Given the description of an element on the screen output the (x, y) to click on. 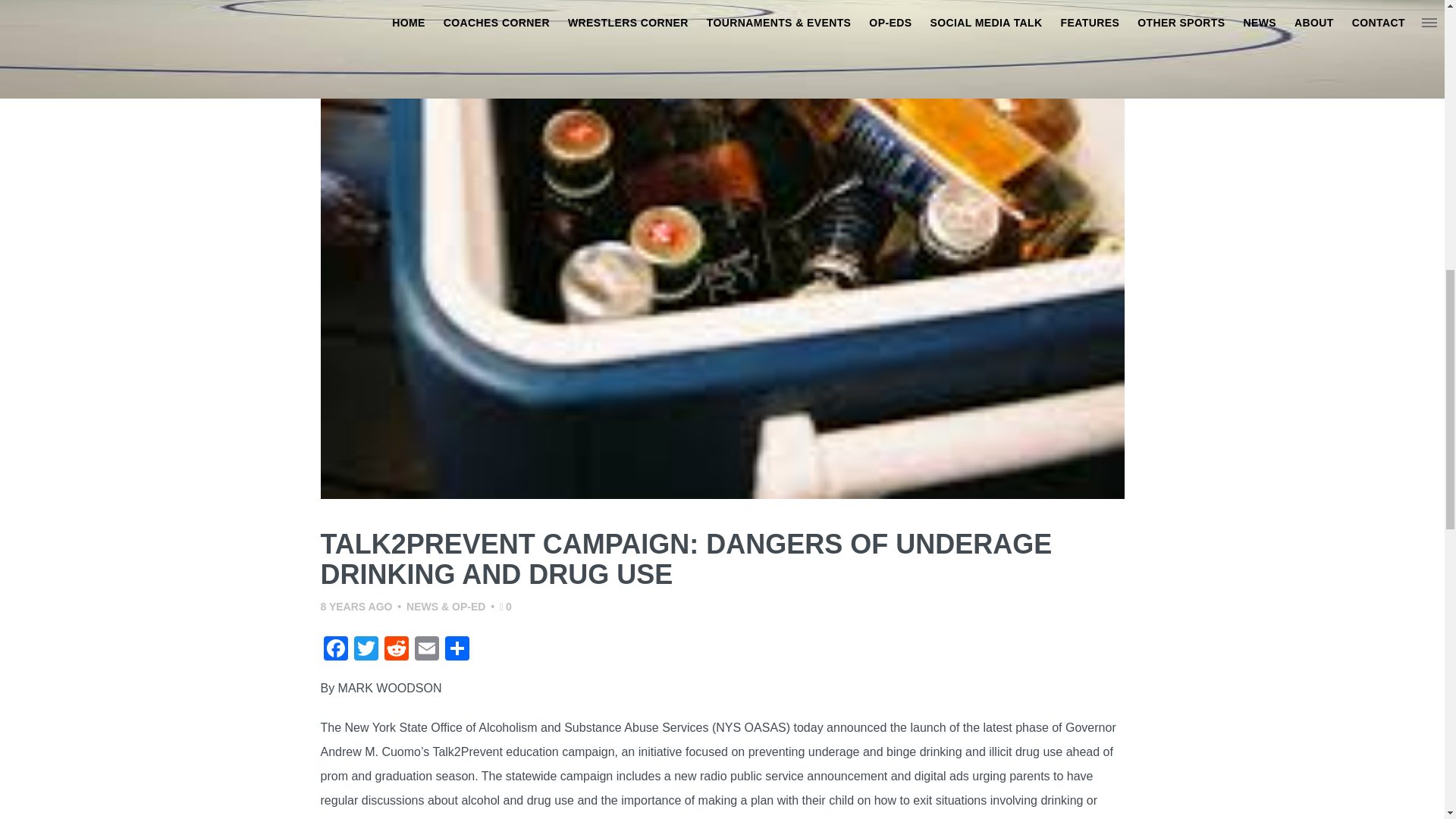
Twitter (365, 650)
Click to love this post. (505, 606)
Facebook (335, 650)
Reddit (395, 650)
Email (425, 650)
